Given the description of an element on the screen output the (x, y) to click on. 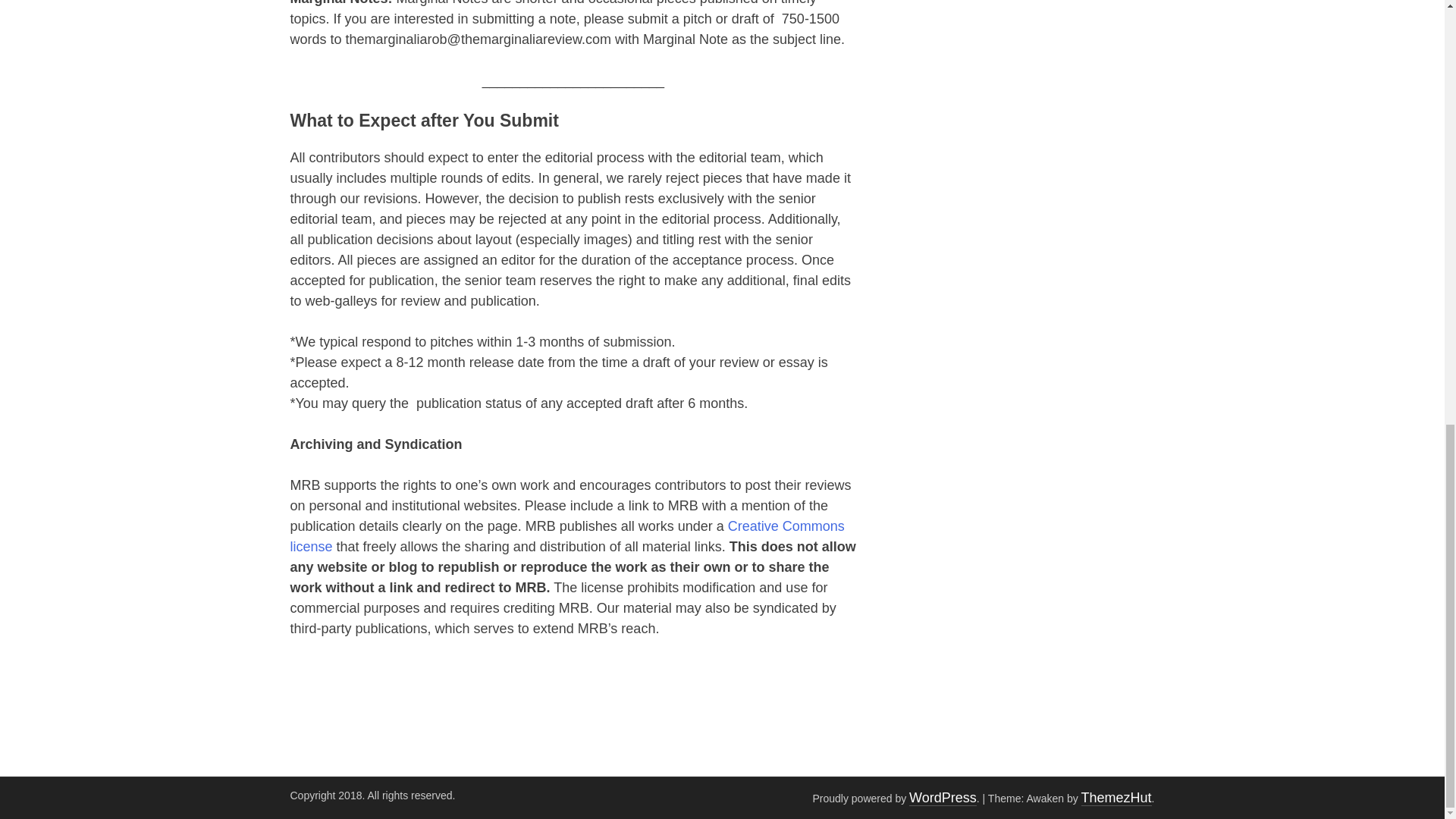
WordPress (942, 797)
ThemezHut (1116, 797)
Creative Commons license (566, 536)
WordPress (942, 797)
